Given the description of an element on the screen output the (x, y) to click on. 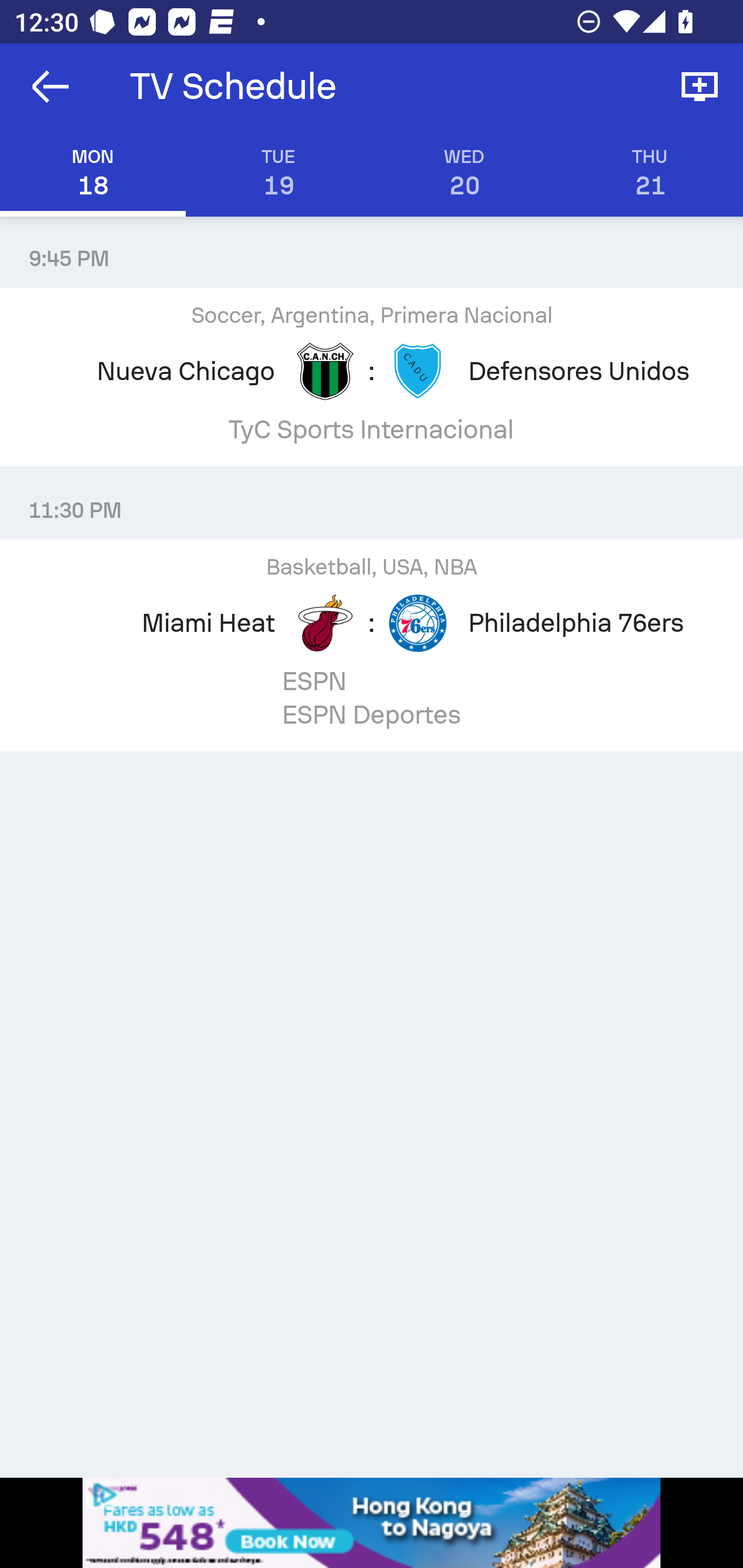
Navigate up (50, 86)
Edit channels (699, 86)
TUE 19 (278, 173)
WED 20 (464, 173)
THU 21 (650, 173)
9:45 PM (371, 250)
11:30 PM (371, 502)
wi46309w_320x50 (371, 1522)
